Given the description of an element on the screen output the (x, y) to click on. 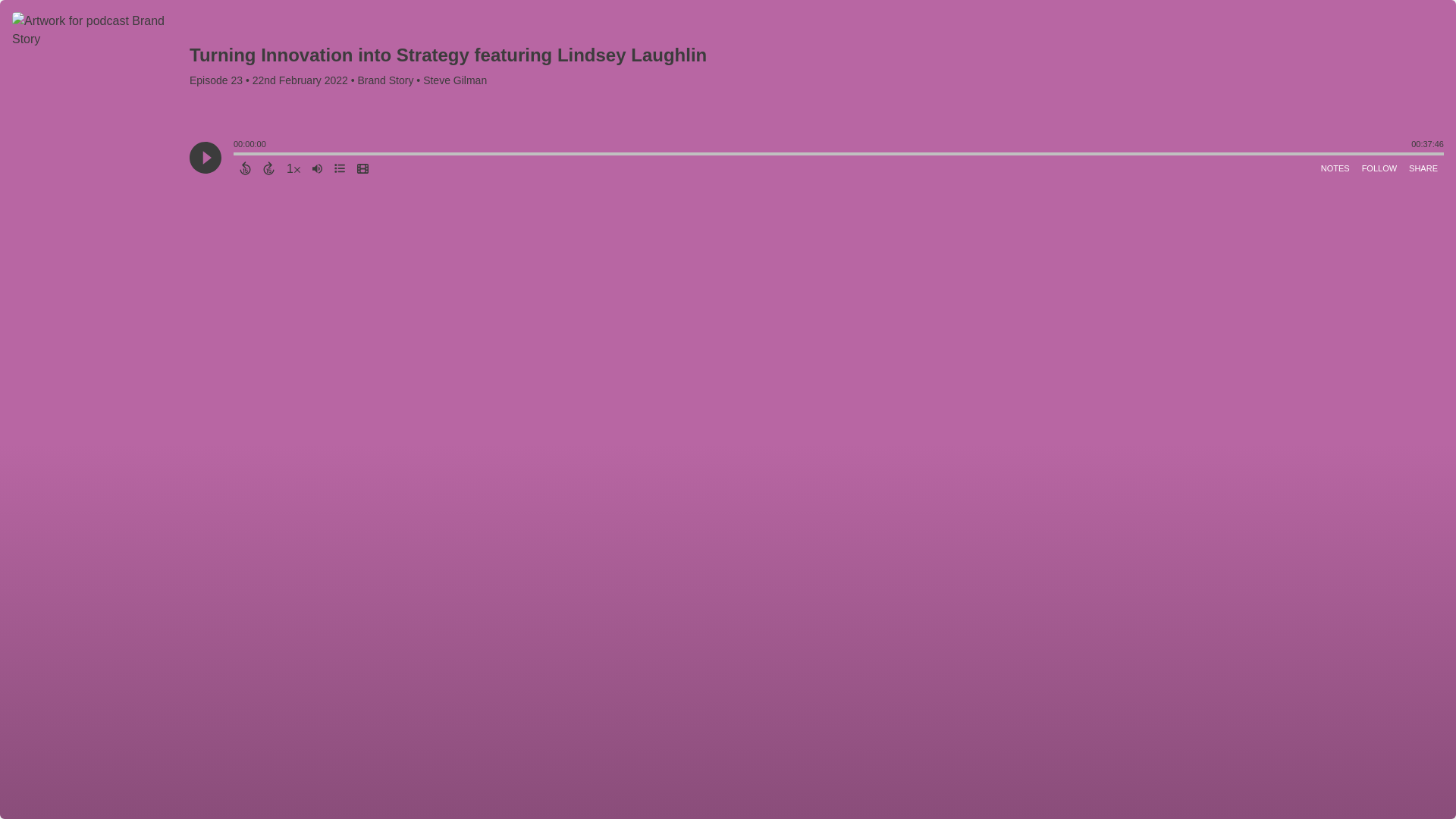
FOLLOW (1379, 167)
NOTES (1334, 167)
SHARE (1423, 167)
1 (293, 167)
